Given the description of an element on the screen output the (x, y) to click on. 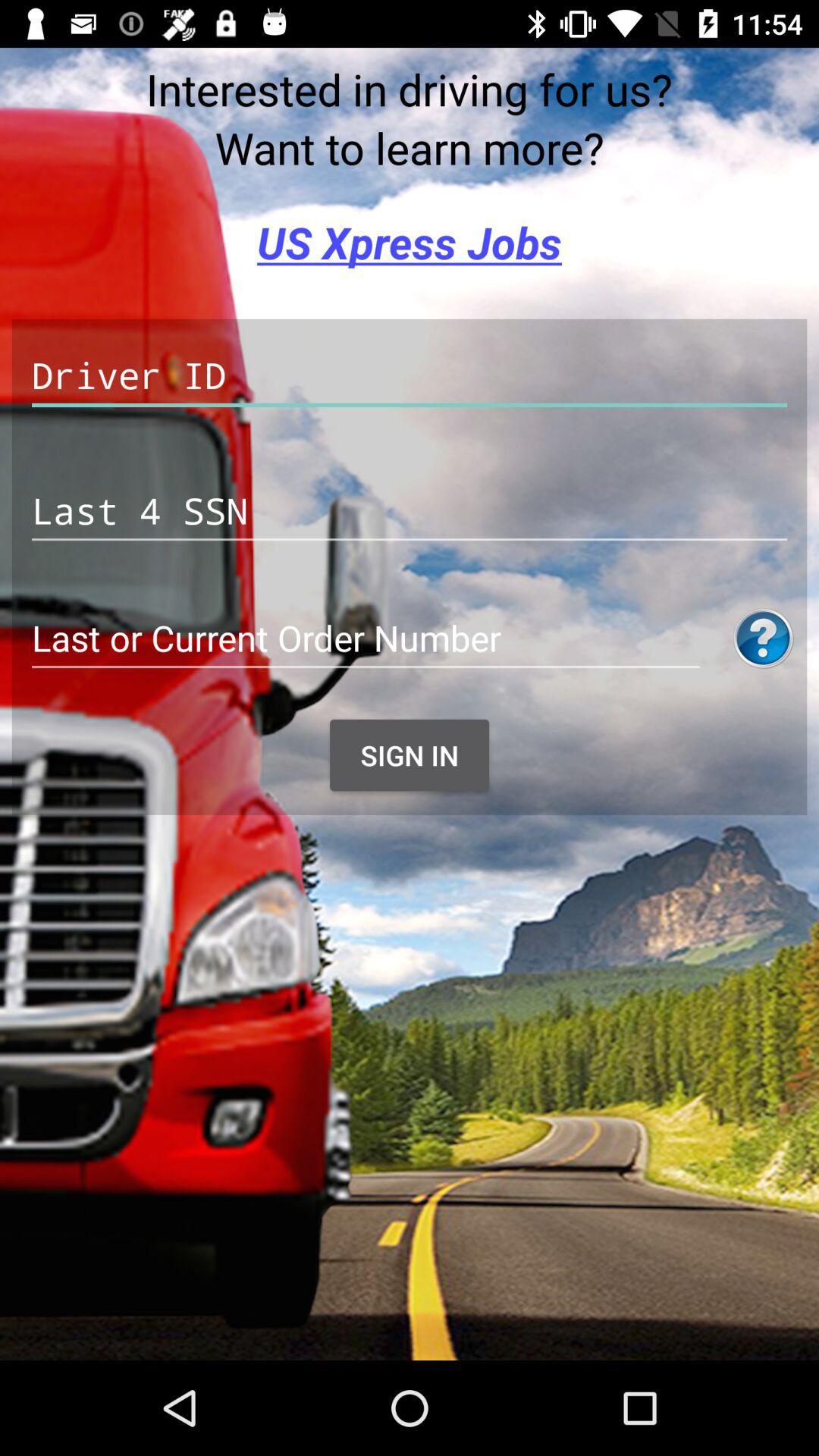
type ssn last four digit (409, 511)
